Given the description of an element on the screen output the (x, y) to click on. 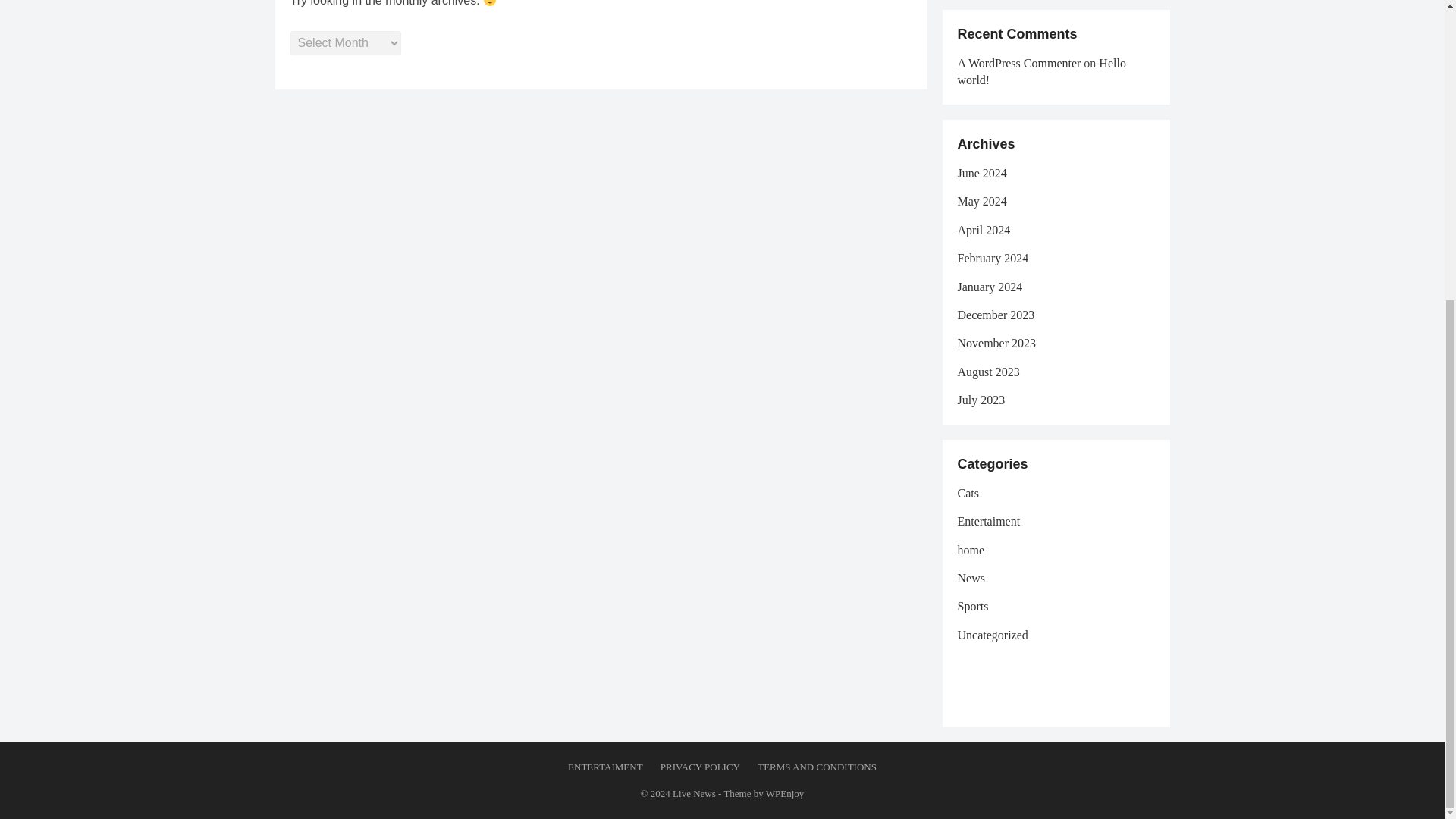
home (970, 549)
News (970, 577)
November 2023 (995, 342)
Entertaiment (988, 521)
December 2023 (994, 314)
January 2024 (989, 286)
July 2023 (980, 399)
August 2023 (987, 371)
April 2024 (983, 229)
Uncategorized (991, 634)
Cats (967, 492)
February 2024 (991, 257)
May 2024 (981, 201)
June 2024 (981, 173)
Sports (972, 605)
